Given the description of an element on the screen output the (x, y) to click on. 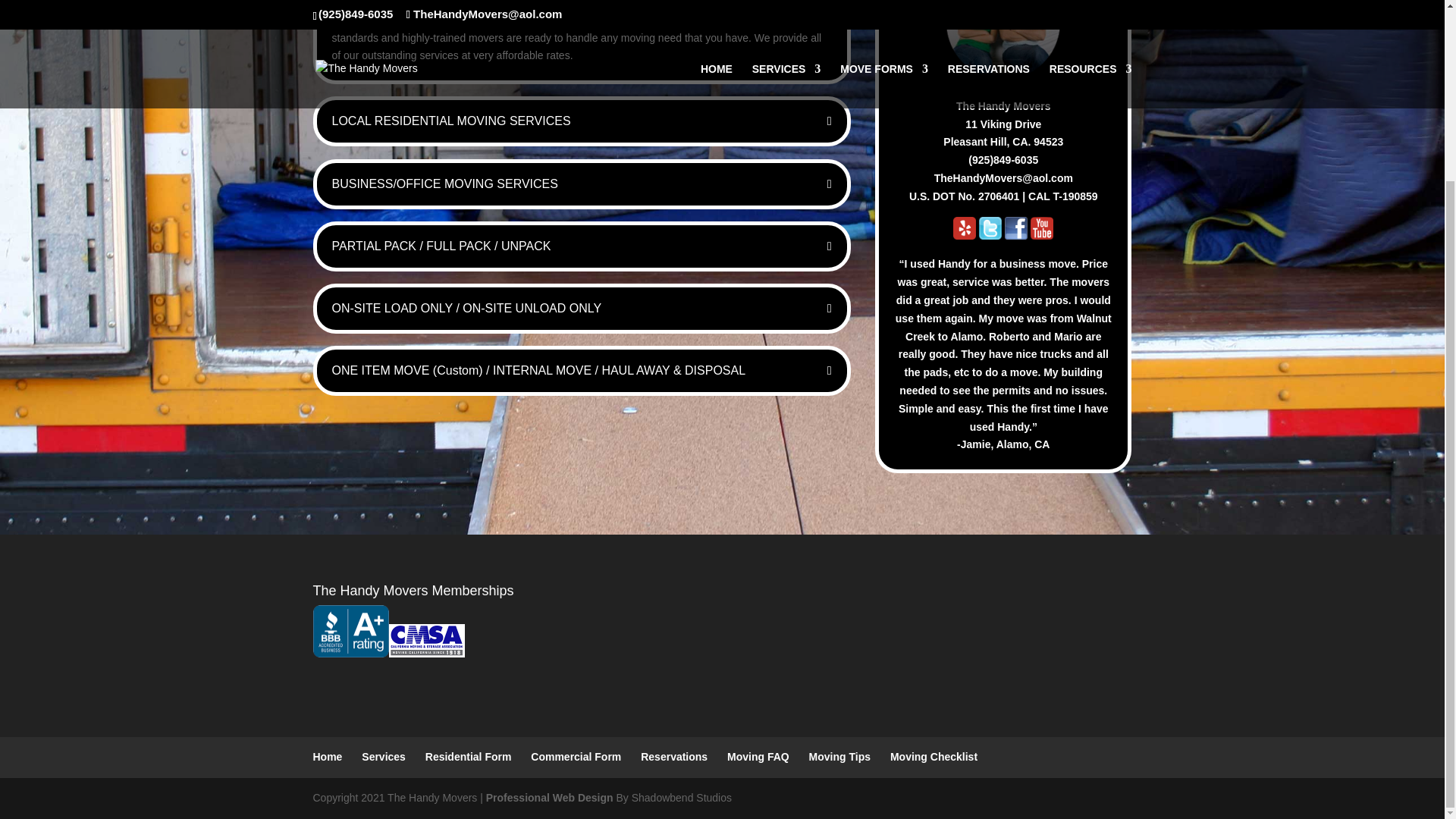
Moving FAQ (757, 756)
Services (383, 756)
Residential Form (468, 756)
Home (327, 756)
Moving Tips (839, 756)
Reservations (673, 756)
Commercial Form (576, 756)
